Given the description of an element on the screen output the (x, y) to click on. 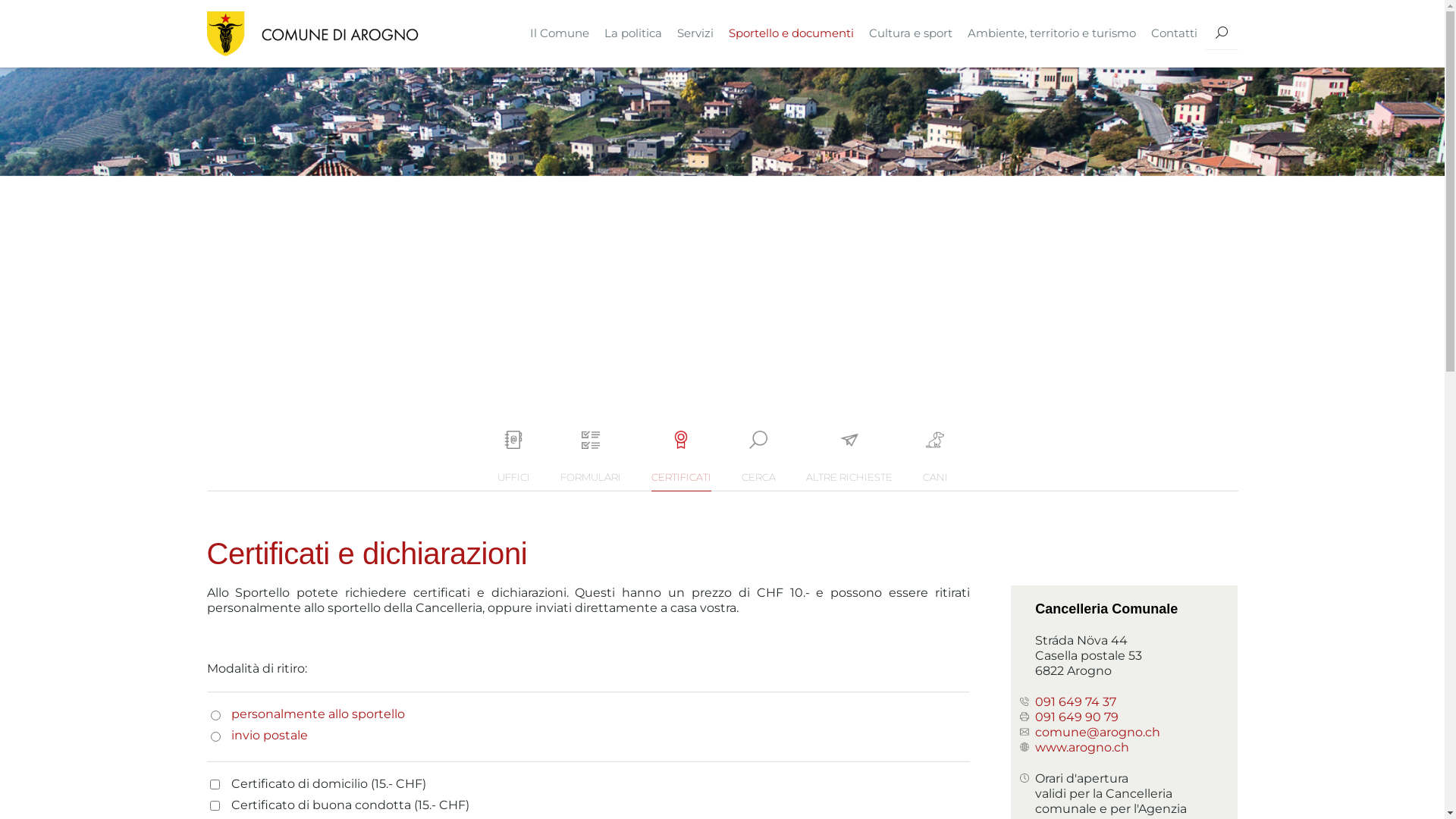
Ambiente, territorio e turismo Element type: text (1051, 33)
  Element type: text (1220, 33)
La politica Element type: text (632, 33)
CANI Element type: text (934, 460)
personalmente allo sportello Element type: text (317, 713)
UFFICI Element type: text (513, 460)
CERTIFICATI Element type: text (680, 460)
Servizi Element type: text (694, 33)
FORMULARI Element type: text (589, 460)
www.arogno.ch Element type: text (1082, 747)
Cultura e sport Element type: text (910, 33)
comune@arogno.ch Element type: text (1097, 731)
Contatti Element type: text (1173, 33)
091 649 90 79 Element type: text (1076, 716)
invio postale Element type: text (268, 735)
Il Comune Element type: text (558, 33)
ALTRE RICHIESTE Element type: text (848, 460)
Vai alla Home Element type: hover (312, 33)
Sportello e documenti Element type: text (790, 33)
CERCA Element type: text (758, 460)
091 649 74 37 Element type: text (1075, 701)
